Given the description of an element on the screen output the (x, y) to click on. 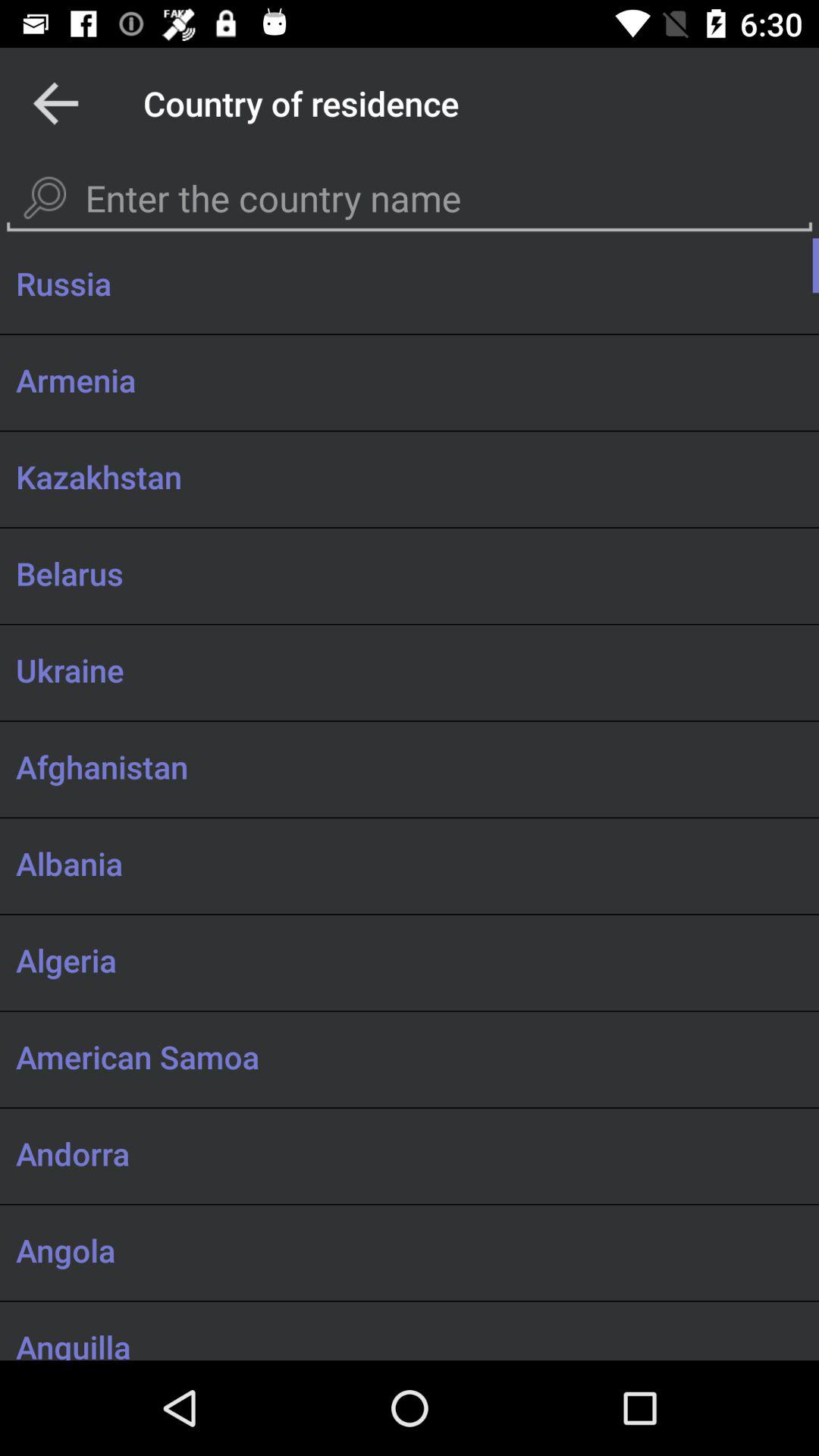
enter country name (409, 198)
